Given the description of an element on the screen output the (x, y) to click on. 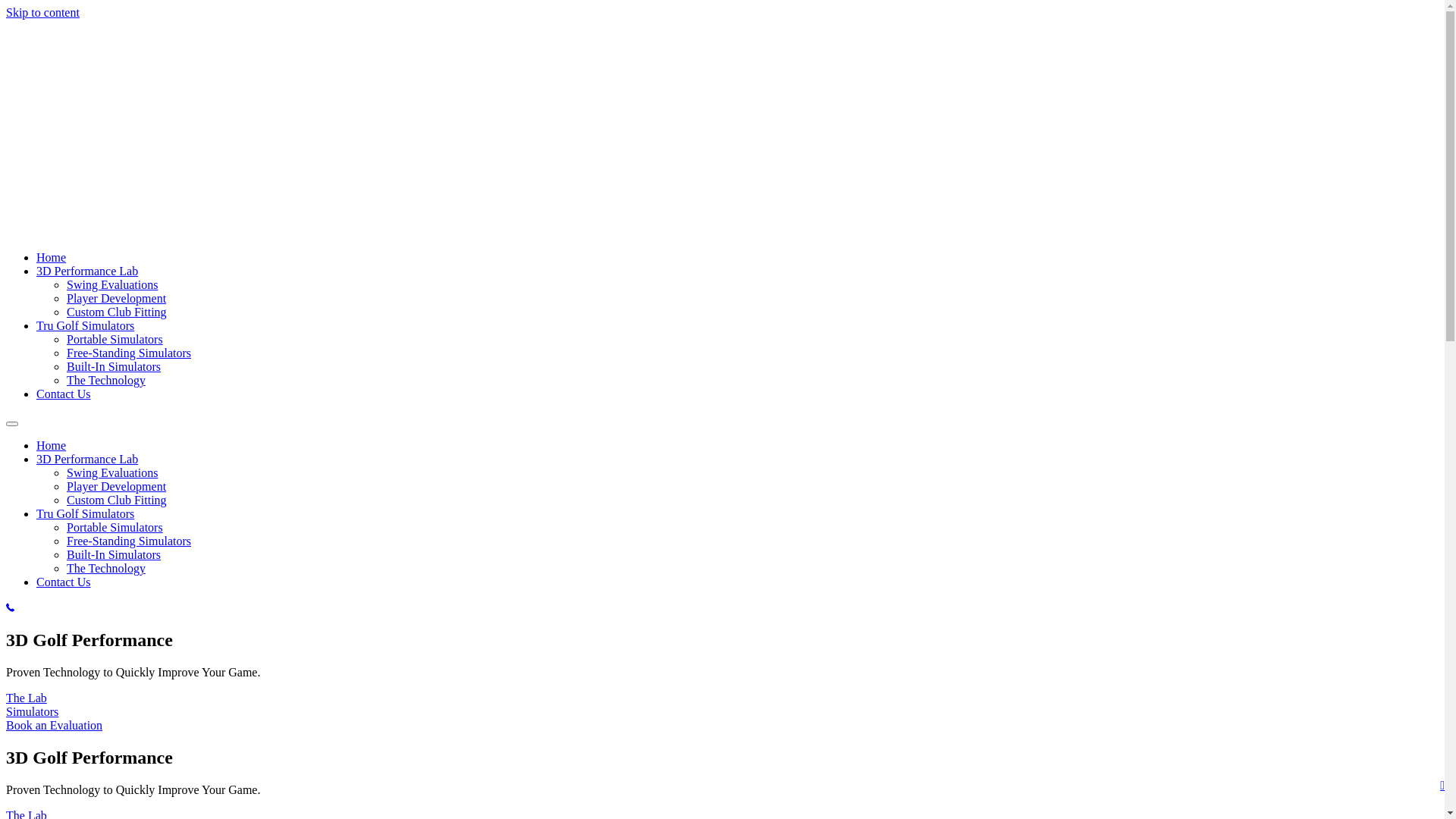
Swing Evaluations Element type: text (111, 284)
Portable Simulators Element type: text (114, 338)
Custom Club Fitting Element type: text (116, 499)
Custom Club Fitting Element type: text (116, 311)
The Technology Element type: text (105, 379)
logo Element type: hover (114, 127)
3D Performance Lab Element type: text (87, 270)
Contact Us Element type: text (63, 581)
Simulators Element type: text (32, 711)
Free-Standing Simulators Element type: text (128, 352)
3D Performance Lab Element type: text (87, 458)
The Technology Element type: text (105, 567)
Home Element type: text (50, 445)
Home Element type: text (50, 257)
Tru Golf Simulators Element type: text (85, 513)
Free-Standing Simulators Element type: text (128, 540)
Contact Us Element type: text (63, 393)
Built-In Simulators Element type: text (113, 554)
Skip to content Element type: text (42, 12)
Book an Evaluation Element type: text (54, 724)
Swing Evaluations Element type: text (111, 472)
Player Development Element type: text (116, 297)
Built-In Simulators Element type: text (113, 366)
The Lab Element type: text (26, 697)
Tru Golf Simulators Element type: text (85, 325)
Player Development Element type: text (116, 486)
Portable Simulators Element type: text (114, 526)
